Given the description of an element on the screen output the (x, y) to click on. 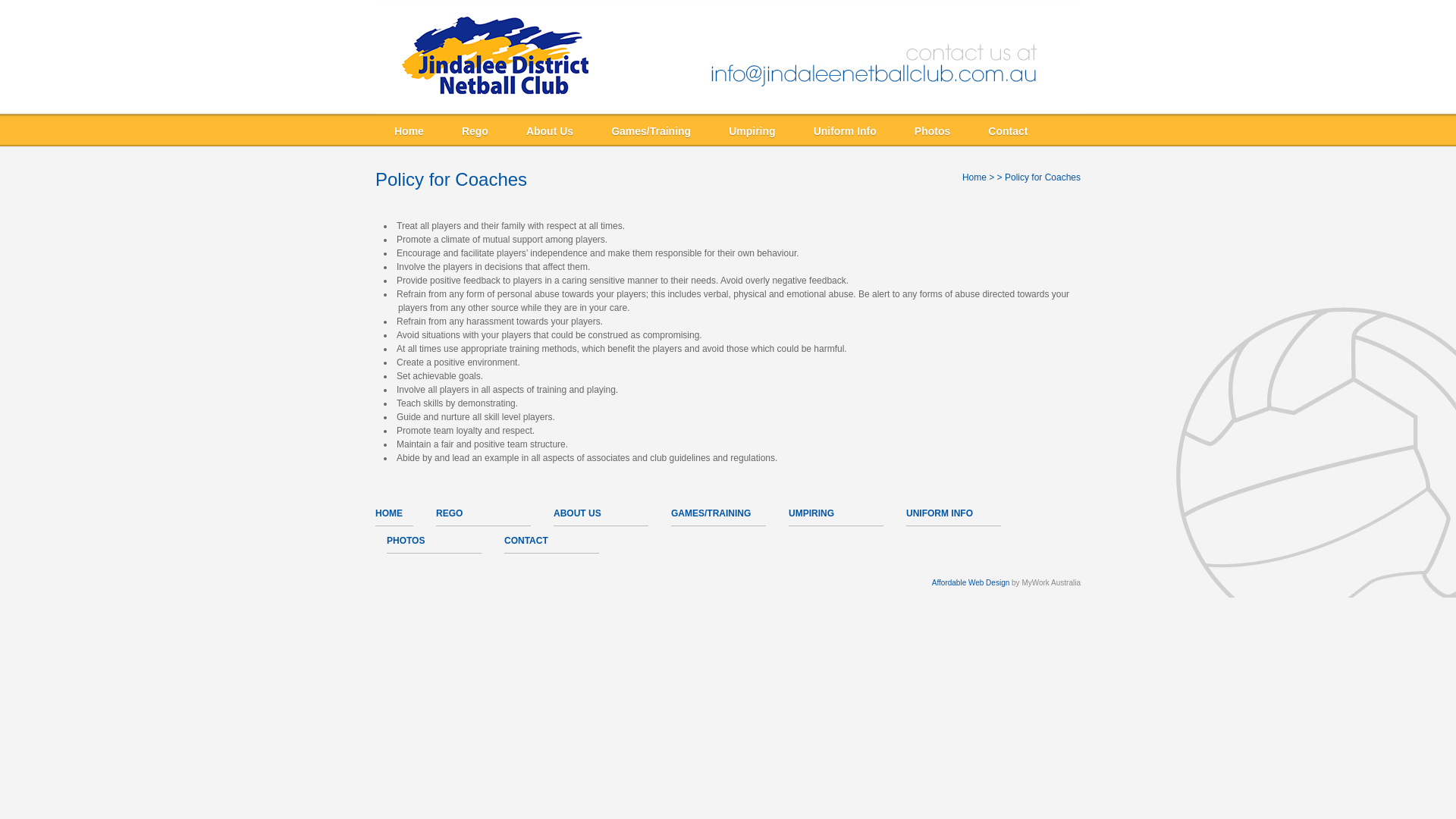
REGO Element type: text (449, 513)
UMPIRING Element type: text (811, 513)
ABOUT US Element type: text (577, 513)
Games/Training Element type: text (651, 131)
PHOTOS Element type: text (405, 540)
Affordable Web Design Element type: text (970, 582)
Rego Element type: text (474, 131)
CONTACT Element type: text (526, 540)
GAMES/TRAINING Element type: text (710, 513)
Photos Element type: text (932, 131)
Home Element type: text (409, 131)
Umpiring Element type: text (751, 131)
About Us Element type: text (549, 131)
UNIFORM INFO Element type: text (939, 513)
Contact Element type: text (1007, 131)
HOME Element type: text (388, 513)
Uniform Info Element type: text (844, 131)
Home Element type: text (974, 177)
